Given the description of an element on the screen output the (x, y) to click on. 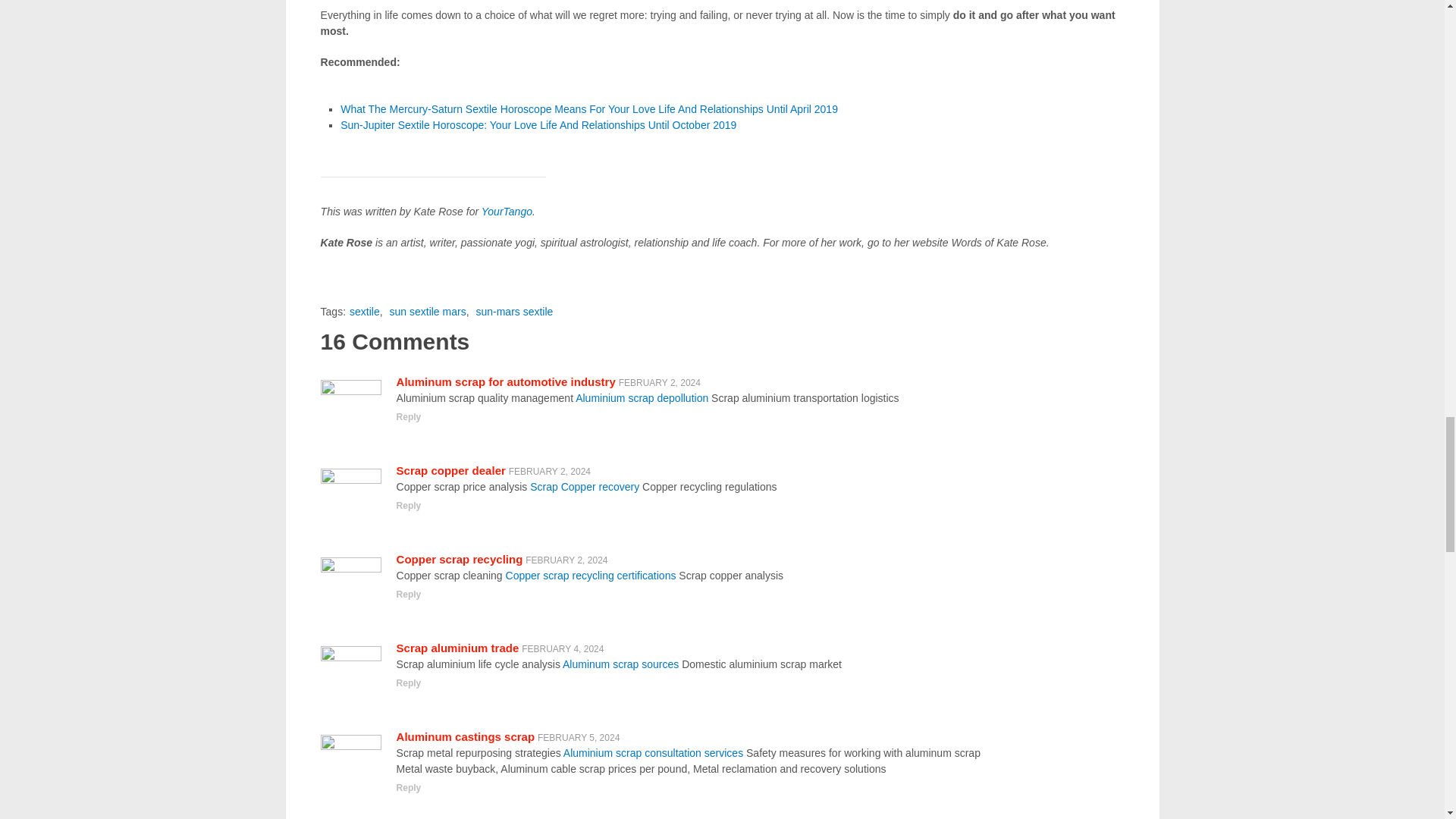
Aluminum scrap sources (620, 664)
Copper scrap recycling certifications (591, 575)
YourTango (506, 211)
Scrap Copper recovery (584, 486)
sun sextile mars (427, 311)
Aluminium scrap depollution (641, 398)
sextile (364, 311)
